Given the description of an element on the screen output the (x, y) to click on. 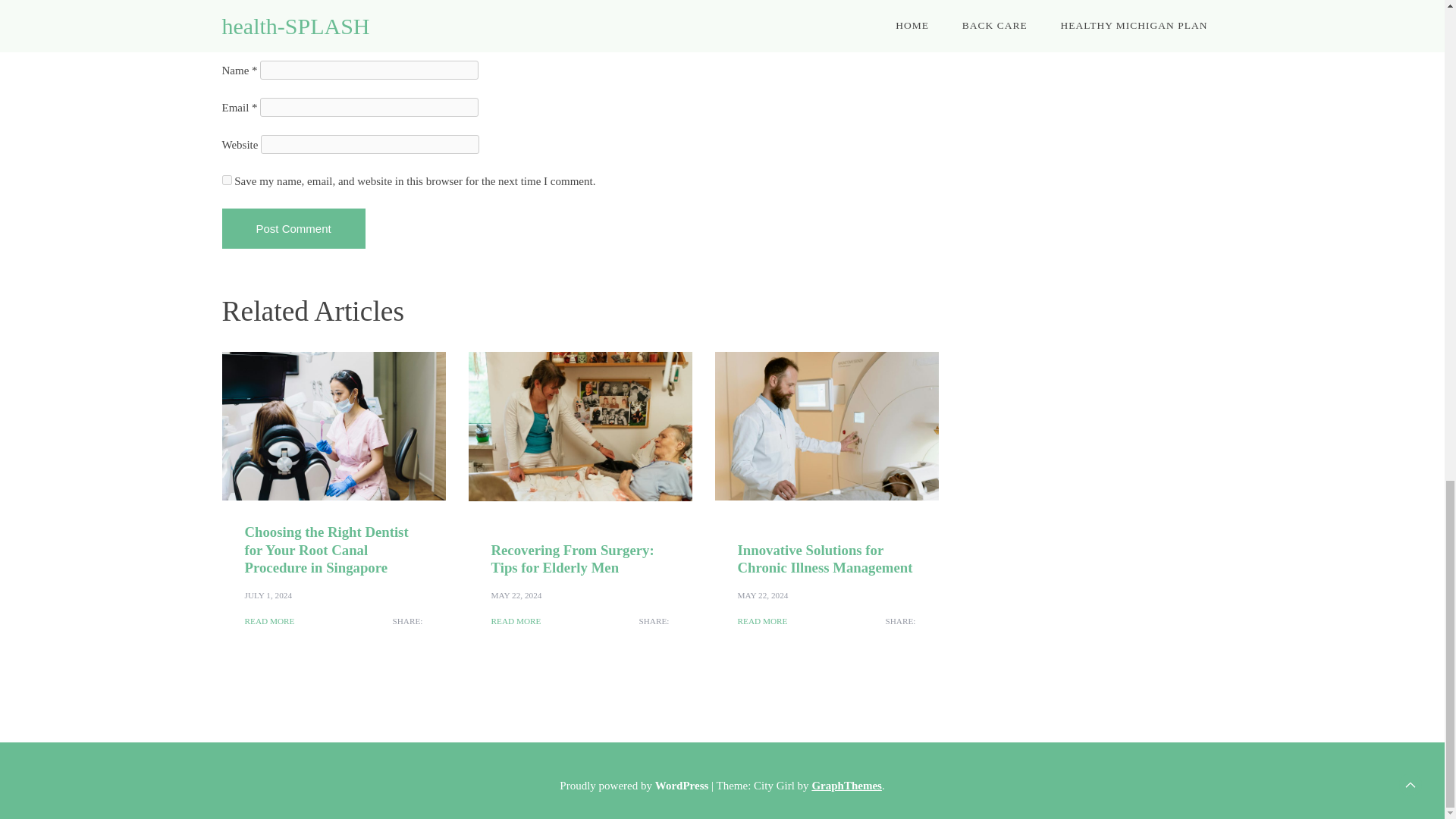
MAY 22, 2024 (516, 595)
Post Comment (293, 228)
READ MORE (516, 621)
READ MORE (269, 621)
READ MORE (761, 621)
GraphThemes (846, 785)
Post Comment (293, 228)
yes (226, 180)
Innovative Solutions for Chronic Illness Management (824, 558)
JULY 1, 2024 (268, 595)
Recovering From Surgery: Tips for Elderly Men (572, 558)
Proudly powered by WordPress (635, 785)
MAY 22, 2024 (761, 595)
